Given the description of an element on the screen output the (x, y) to click on. 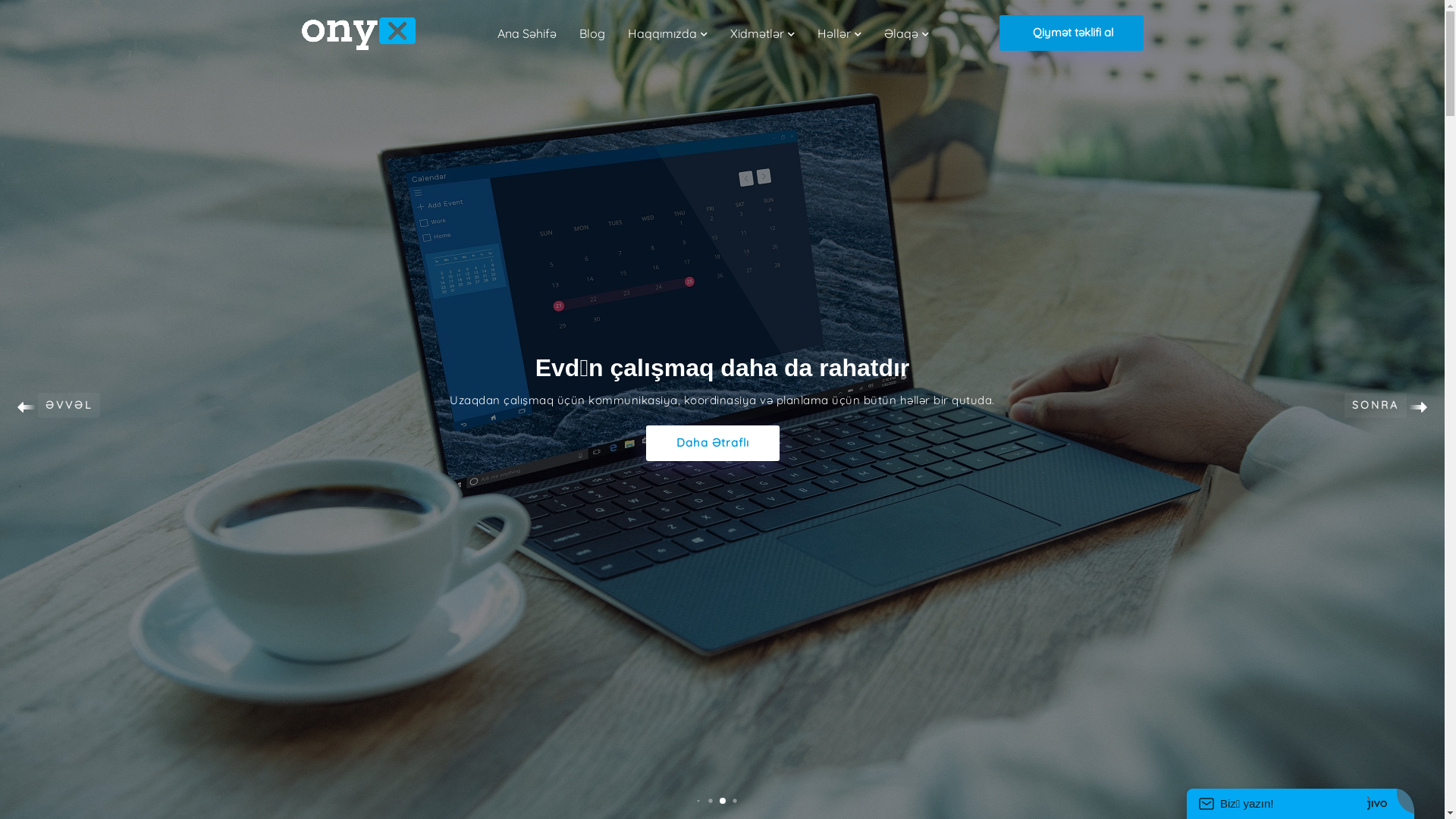
Blog Element type: text (592, 33)
